Given the description of an element on the screen output the (x, y) to click on. 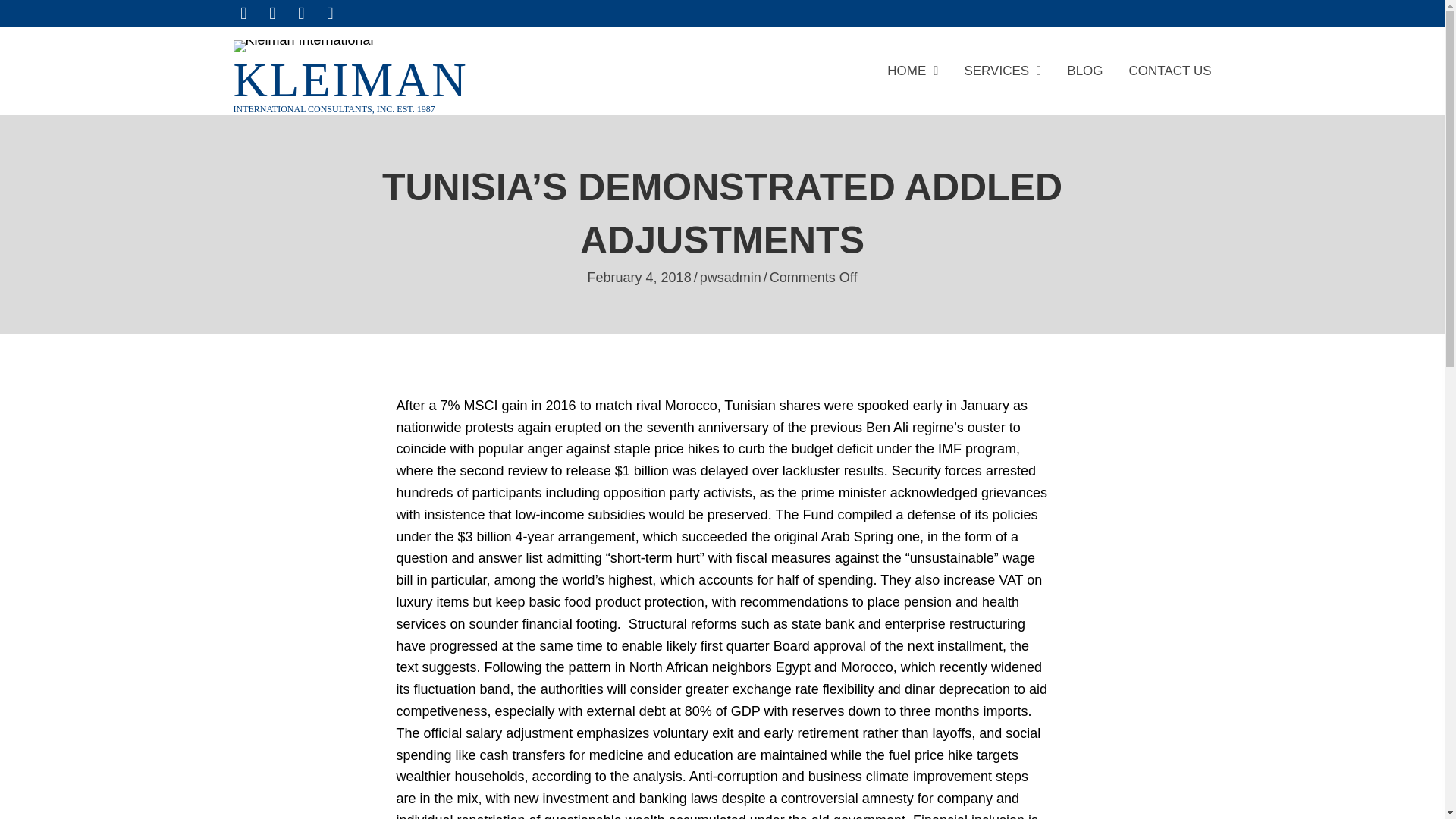
SERVICES (1002, 73)
CONTACT US (1170, 73)
BLOG (1084, 73)
HOME (911, 73)
pwsadmin (730, 277)
kleimanlogo (303, 46)
